Given the description of an element on the screen output the (x, y) to click on. 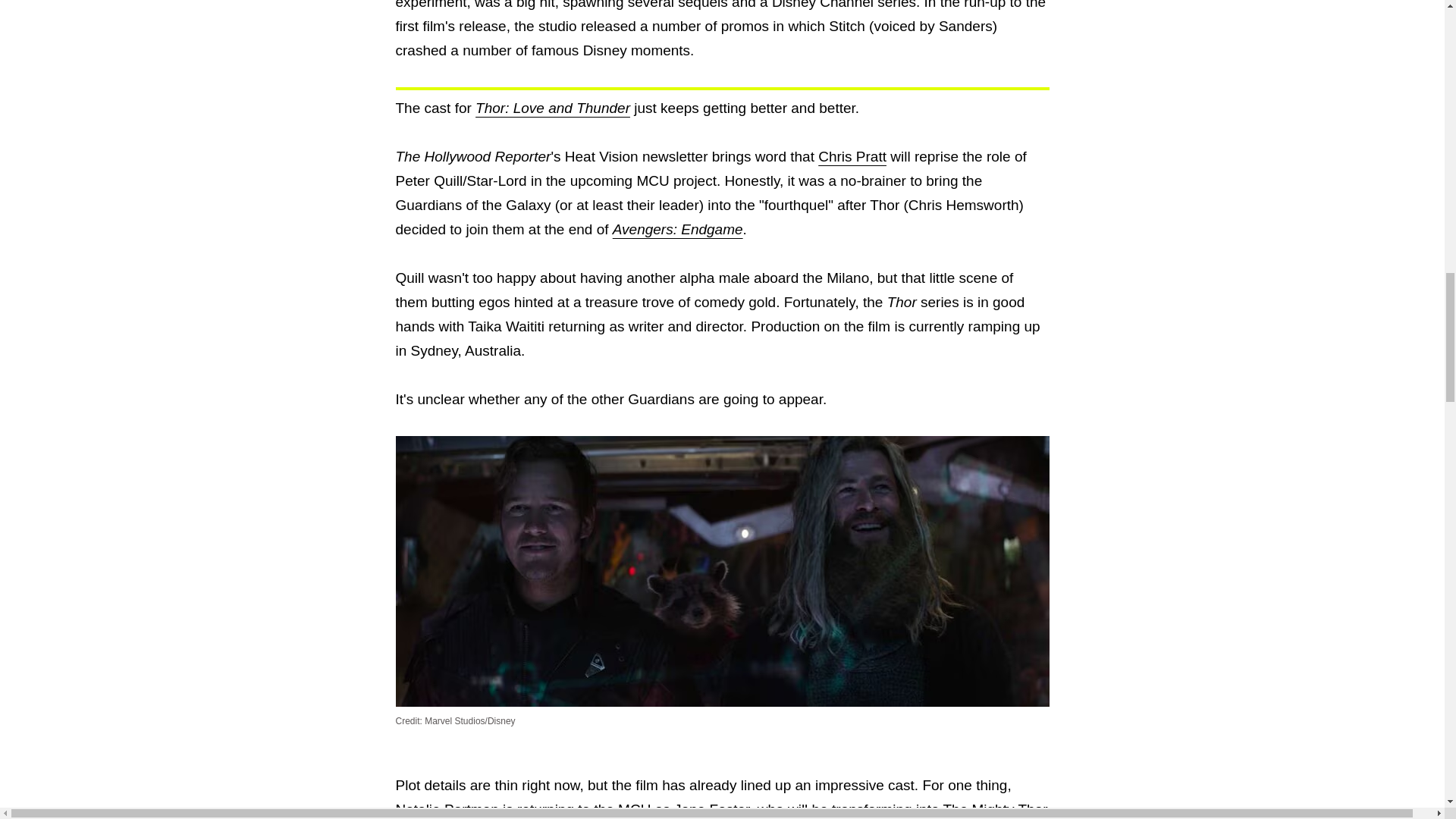
Chris Pratt (852, 156)
Thor: Love and Thunder (553, 107)
Avengers: Endgame (677, 229)
